Given the description of an element on the screen output the (x, y) to click on. 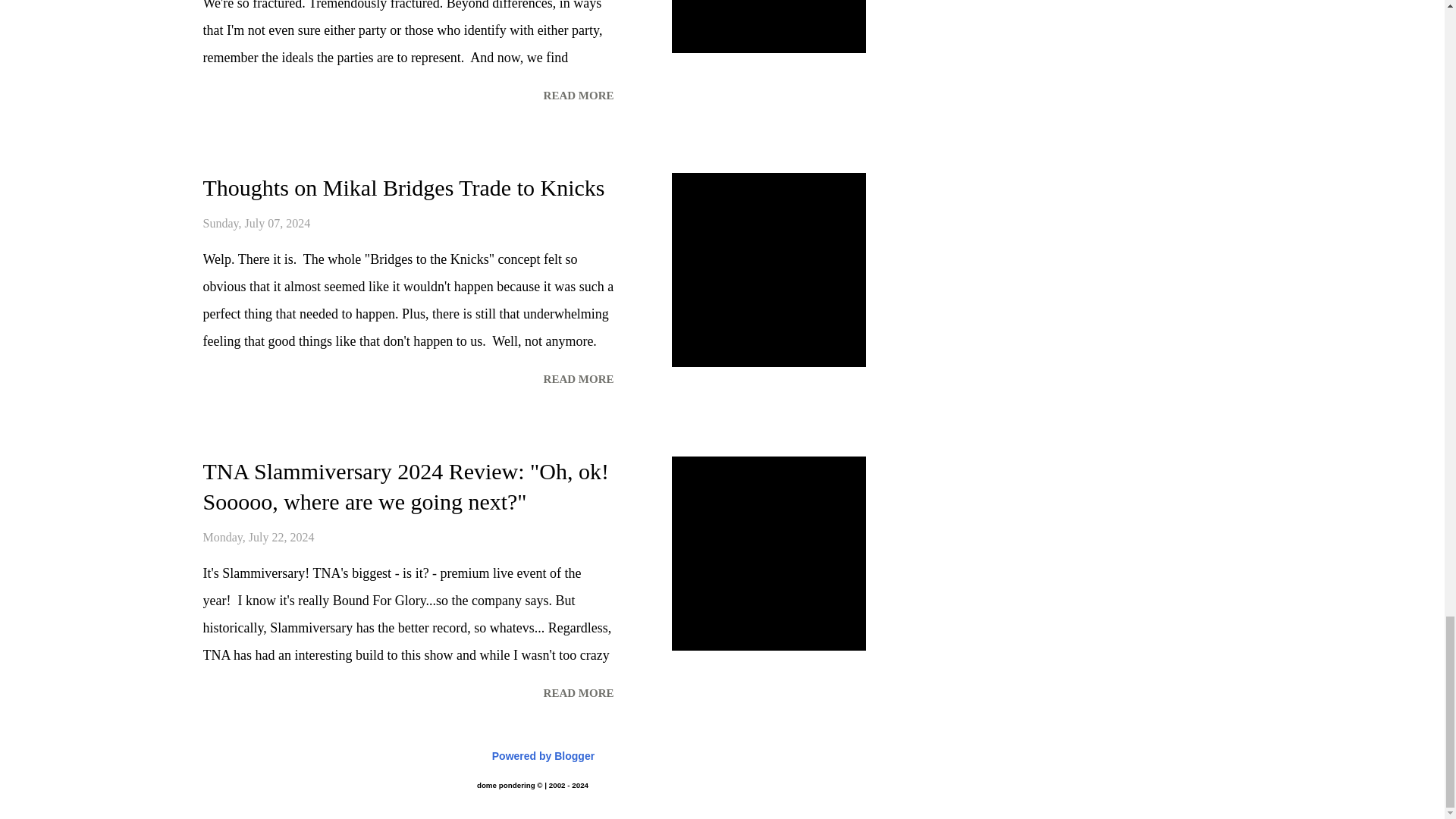
Thoughts on Mikal Bridges Trade to Knicks (404, 187)
The Trump Shooting: What Are We Going Forward? (578, 95)
READ MORE (578, 379)
Thoughts on Mikal Bridges Trade to Knicks (578, 379)
permanent link (258, 536)
permanent link (257, 223)
Sunday, July 07, 2024 (257, 223)
Monday, July 22, 2024 (258, 536)
READ MORE (578, 95)
READ MORE (578, 692)
